Given the description of an element on the screen output the (x, y) to click on. 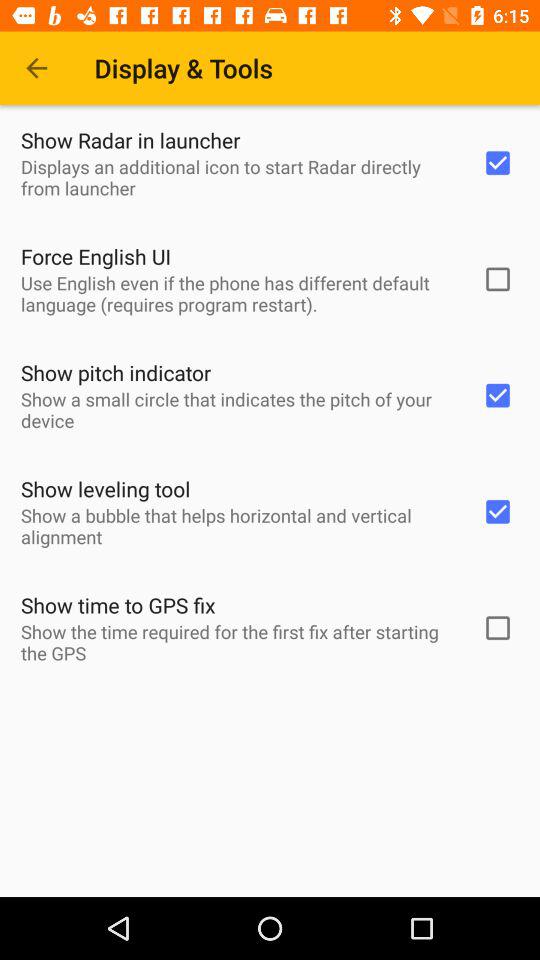
tap the show leveling tool icon (105, 488)
